Given the description of an element on the screen output the (x, y) to click on. 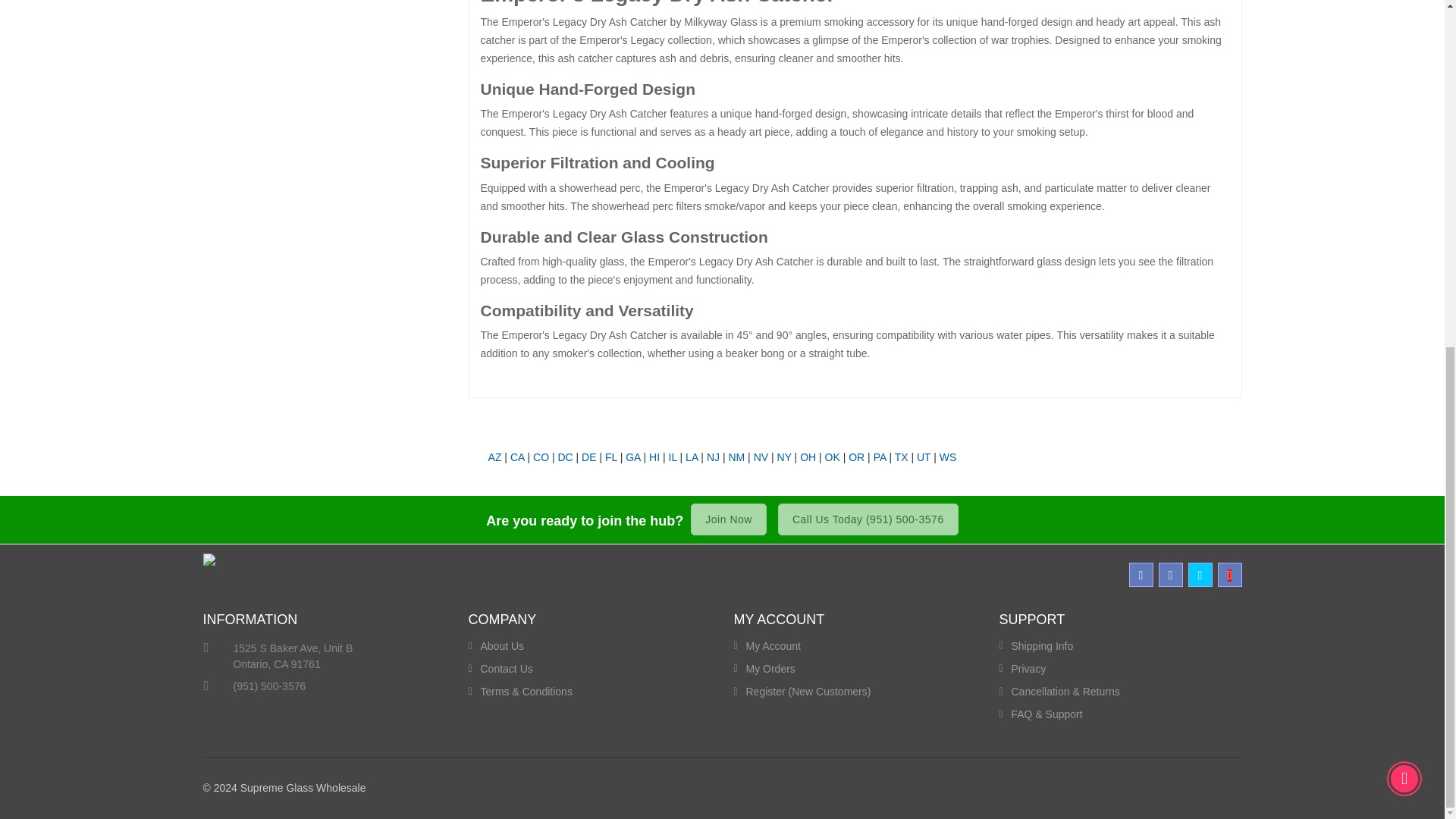
Youtube (1229, 574)
Facebook (1140, 574)
Twitter (1199, 574)
